Given the description of an element on the screen output the (x, y) to click on. 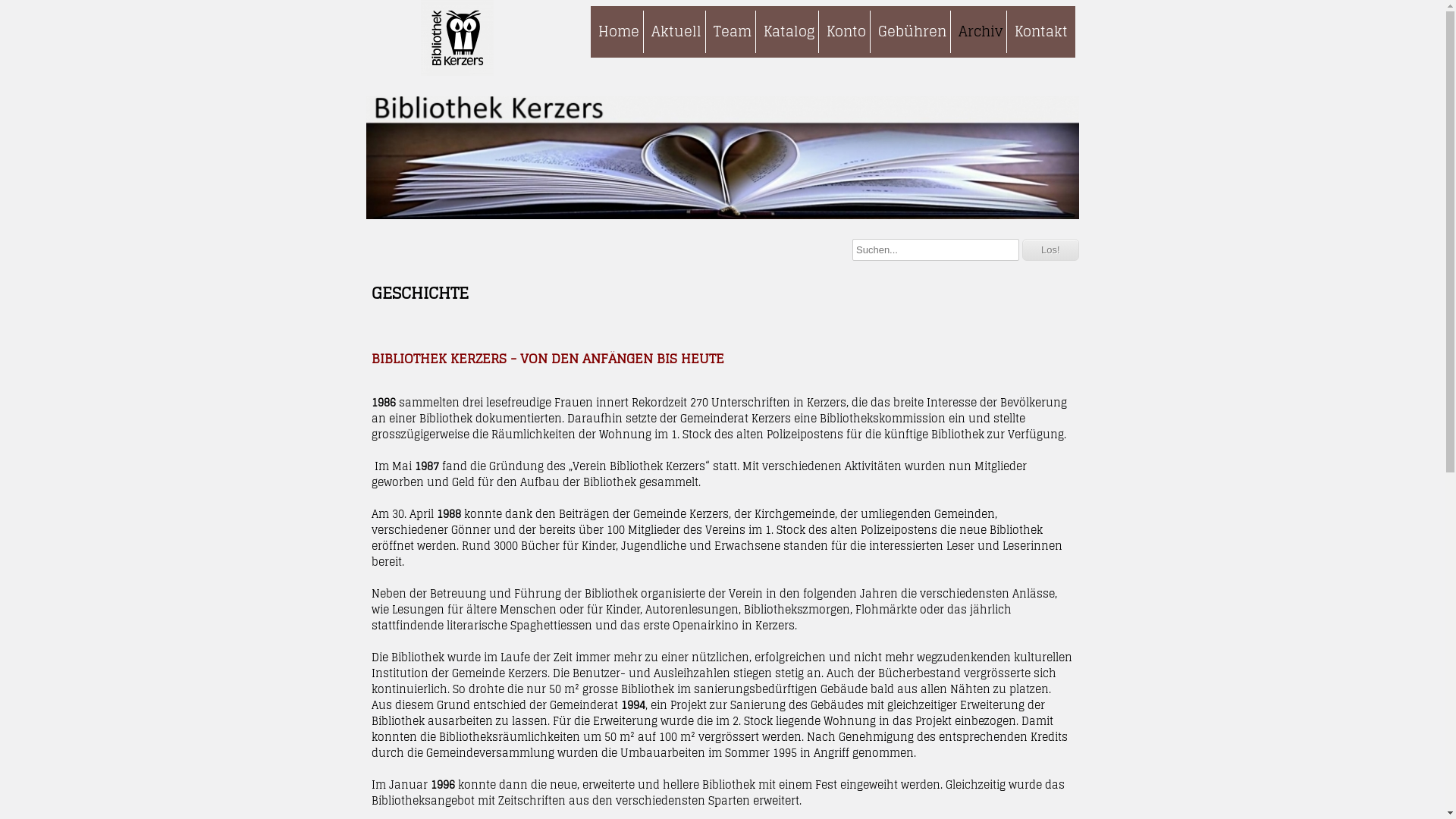
Team Element type: text (732, 31)
Aktuell Element type: text (676, 31)
Home Element type: text (617, 31)
Kontakt Element type: text (1039, 31)
Los! Element type: text (1050, 249)
Konto Element type: text (844, 31)
Katalog Element type: text (788, 31)
Archiv Element type: text (979, 31)
